Given the description of an element on the screen output the (x, y) to click on. 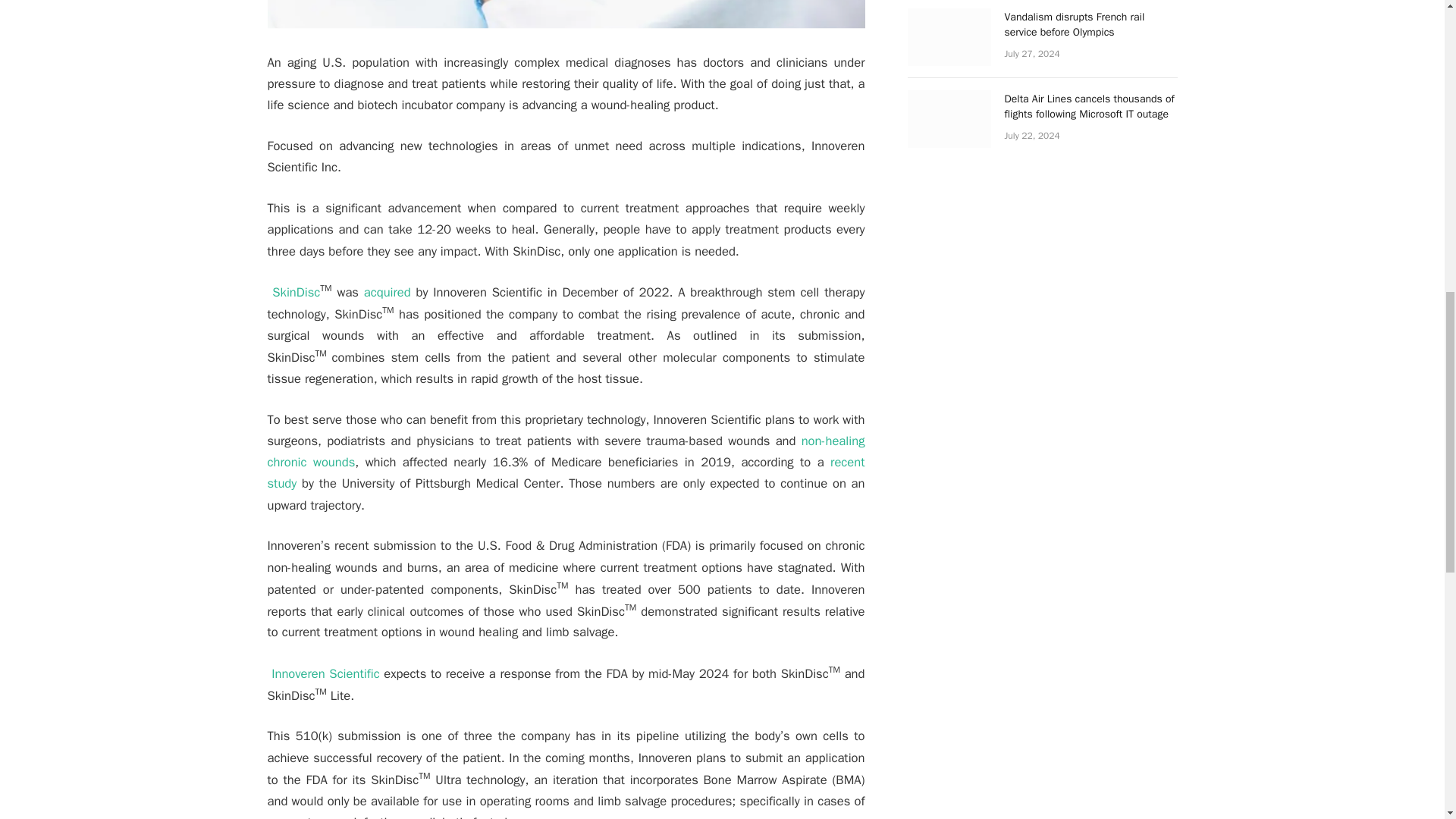
acquired (387, 292)
recent study (565, 472)
SkinDisc (296, 292)
non-healing chronic wounds (565, 451)
